Given the description of an element on the screen output the (x, y) to click on. 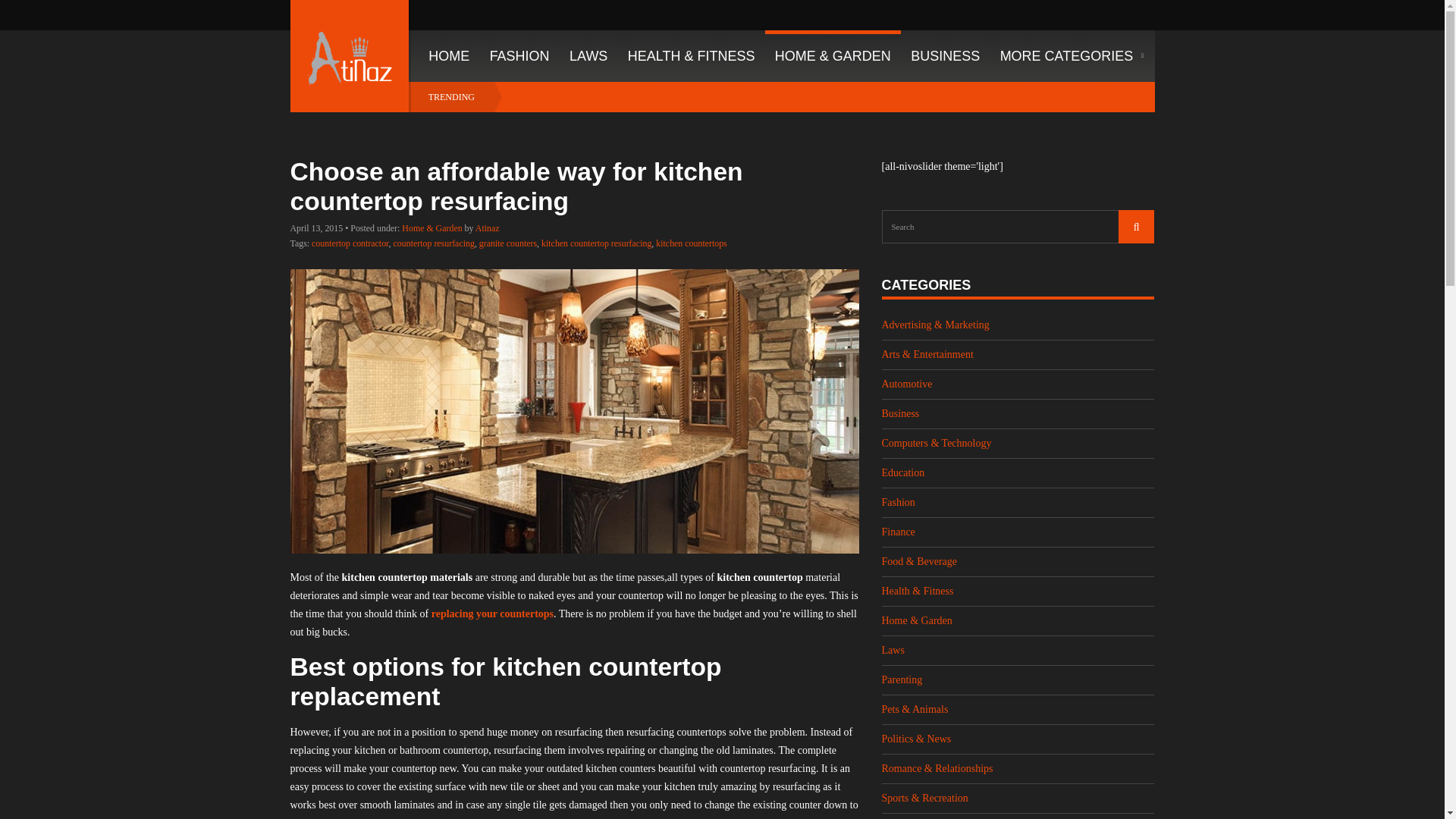
FASHION (519, 55)
HOME (444, 55)
LAWS (588, 55)
MORE CATEGORIES (1070, 55)
BUSINESS (945, 55)
